Given the description of an element on the screen output the (x, y) to click on. 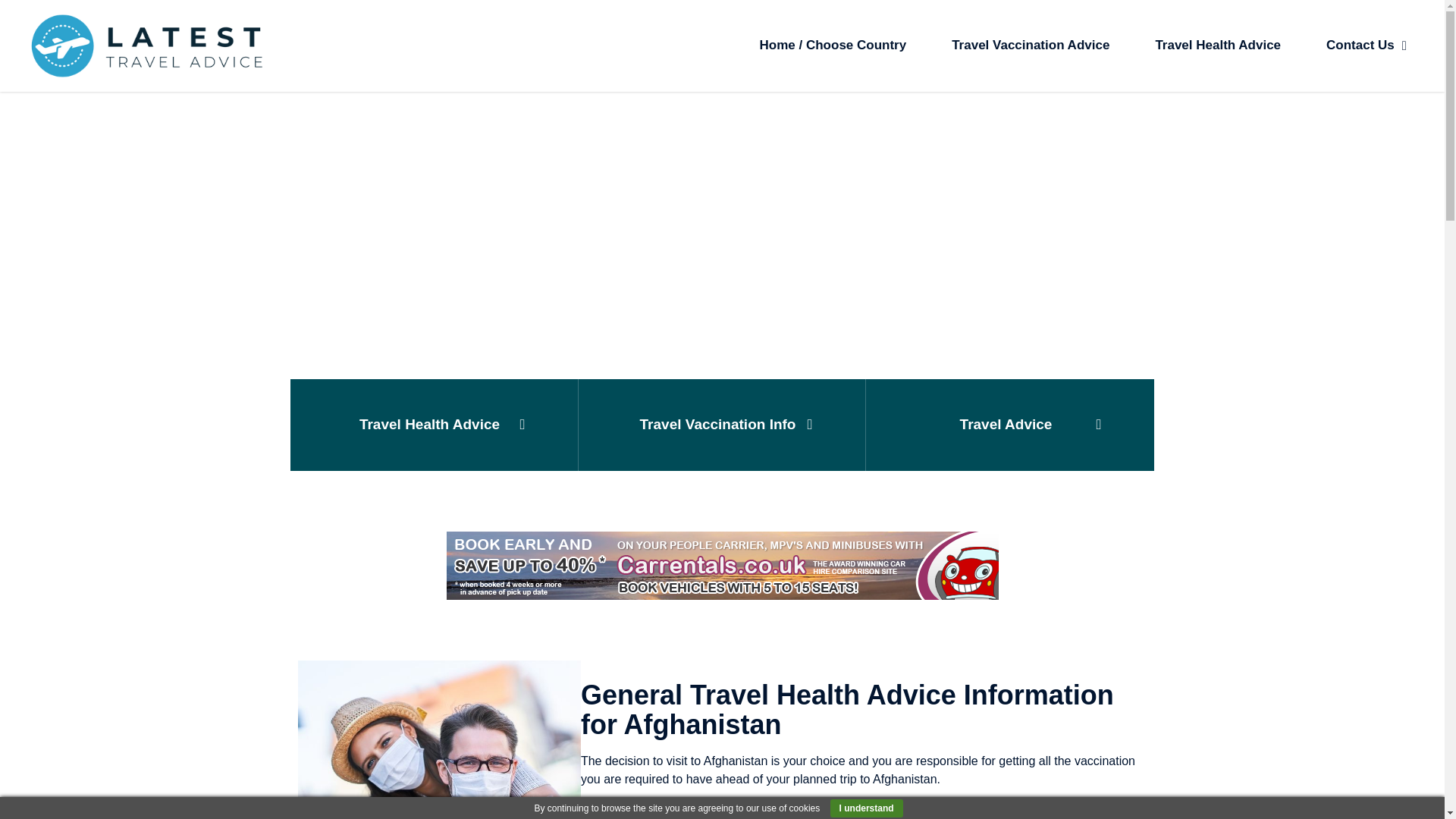
Travel Vaccination Info (722, 424)
Travel Health Advice (433, 424)
I understand (865, 808)
Contact Us (1366, 45)
Travel Health Advice (1217, 45)
Travel Vaccination Advice (1030, 45)
Travel Advice (1009, 424)
